Given the description of an element on the screen output the (x, y) to click on. 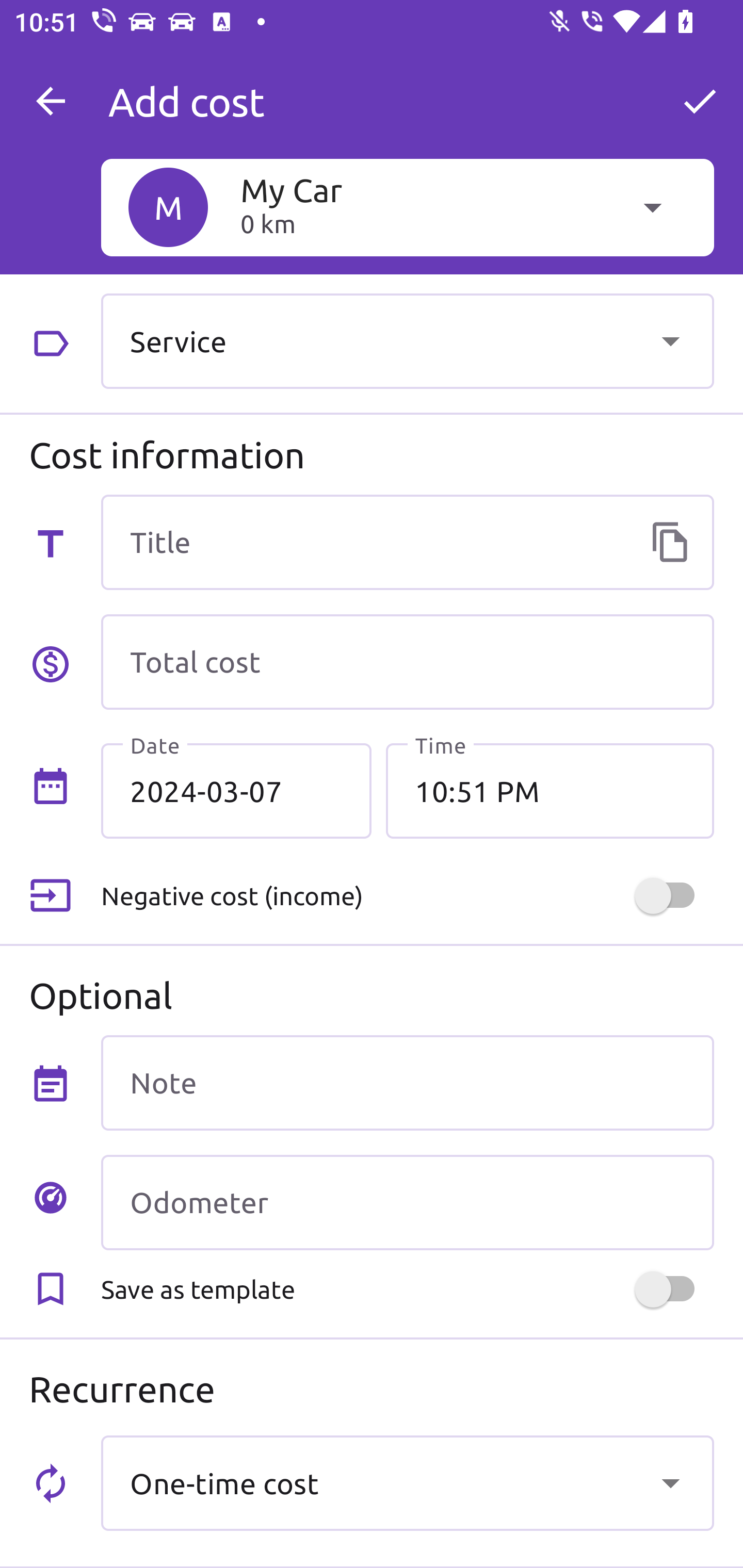
Navigate up (50, 101)
OK (699, 101)
M My Car 0 km (407, 206)
Service (407, 340)
Show dropdown menu (670, 340)
Title (407, 541)
Templates (670, 541)
Total cost  (407, 662)
2024-03-07 (236, 790)
10:51 PM (549, 790)
Negative cost (income) (407, 895)
Note (407, 1082)
Odometer (407, 1202)
Save as template (407, 1289)
One-time cost (407, 1482)
Show dropdown menu (670, 1482)
